Given the description of an element on the screen output the (x, y) to click on. 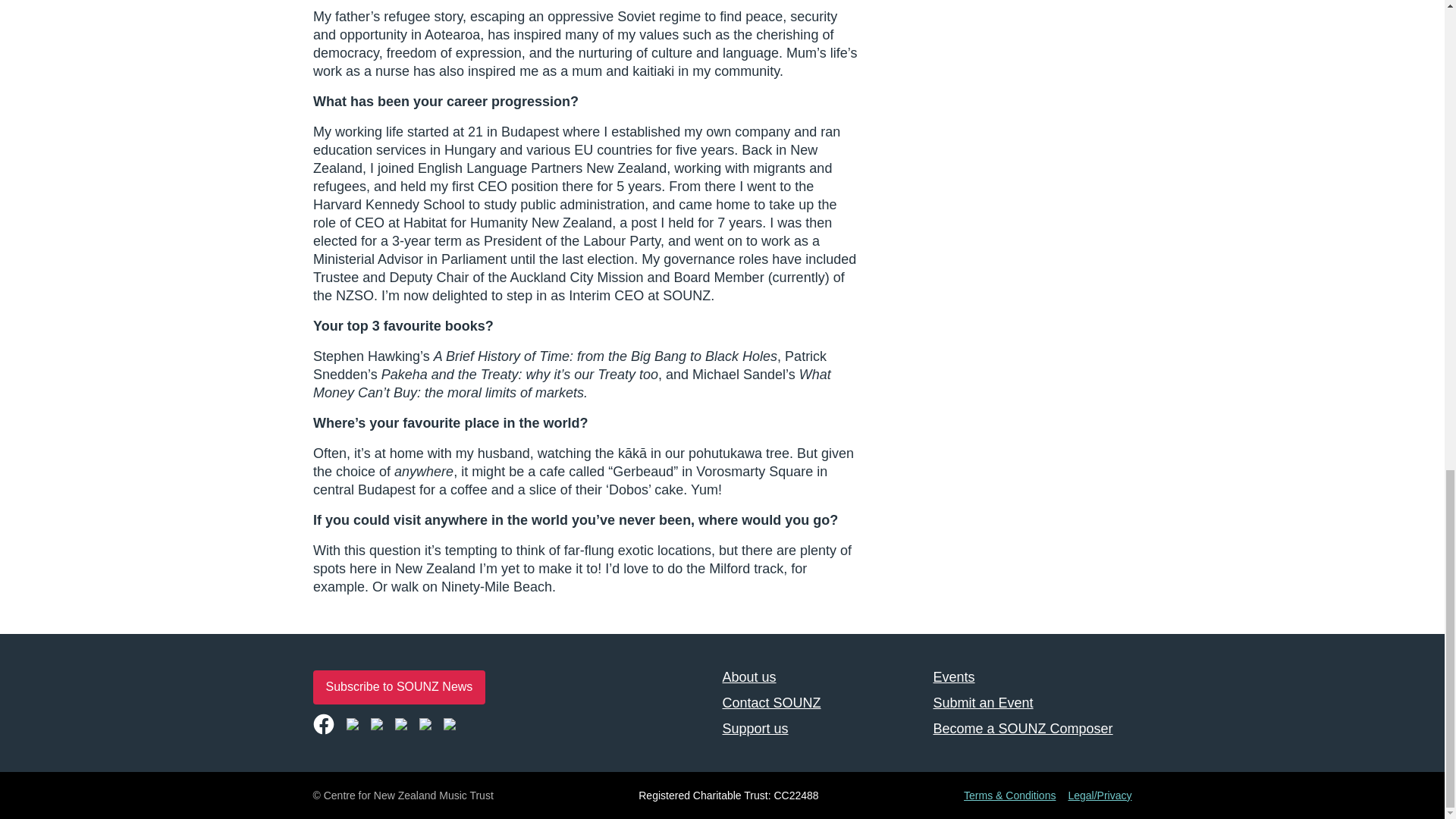
Subscribe to SOUNZ News (398, 687)
Become a SOUNZ Composer (1032, 728)
Support us (821, 728)
About us (821, 676)
Contact SOUNZ (821, 703)
Events (1032, 676)
Submit an Event (1032, 703)
